Given the description of an element on the screen output the (x, y) to click on. 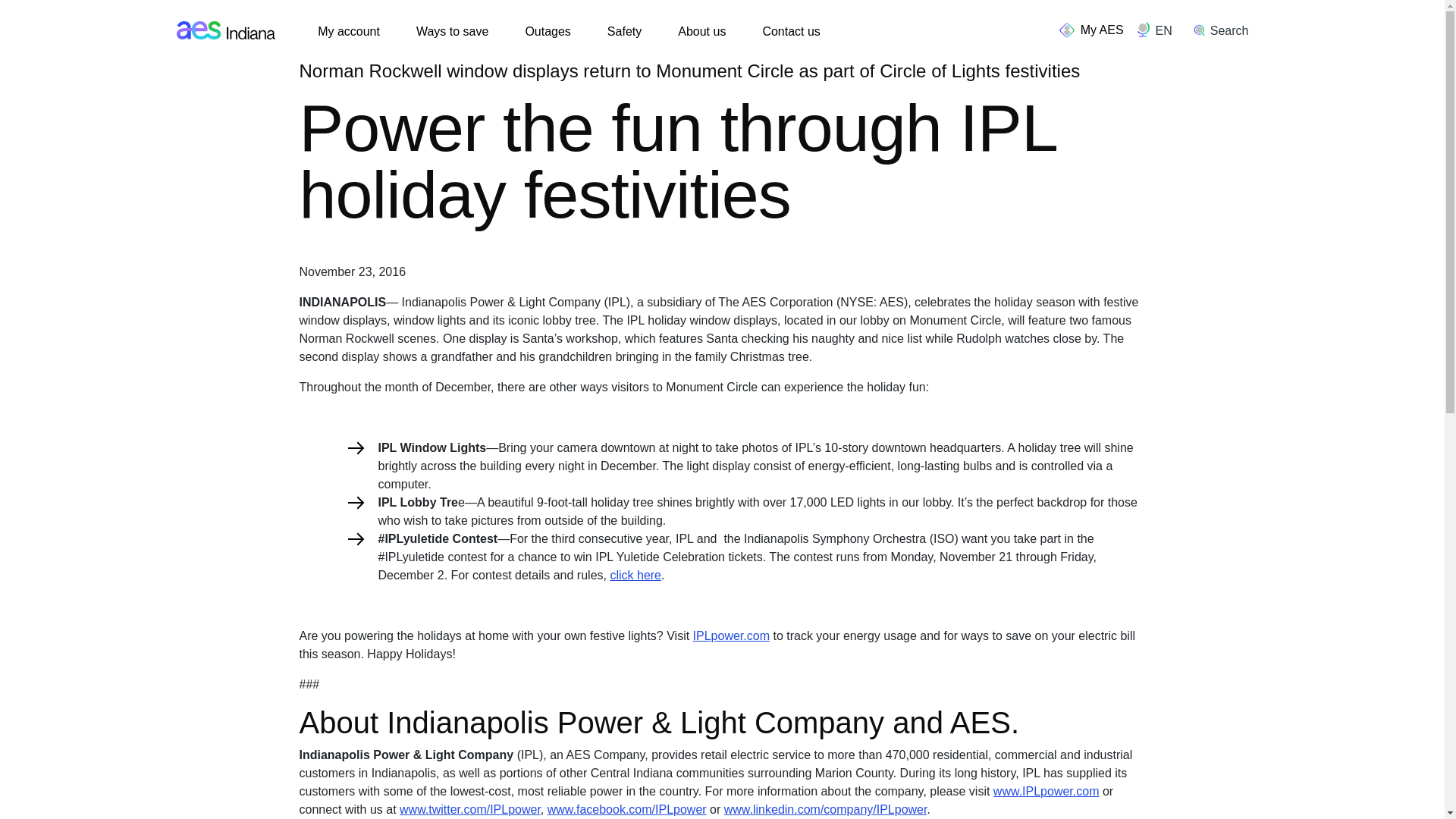
My account (348, 31)
Ways to save (451, 31)
Outages (547, 31)
Contact us (790, 31)
Safety (624, 31)
Ways to save (451, 31)
Outages (547, 31)
About us (701, 31)
Safety (624, 31)
My account (348, 31)
